Given the description of an element on the screen output the (x, y) to click on. 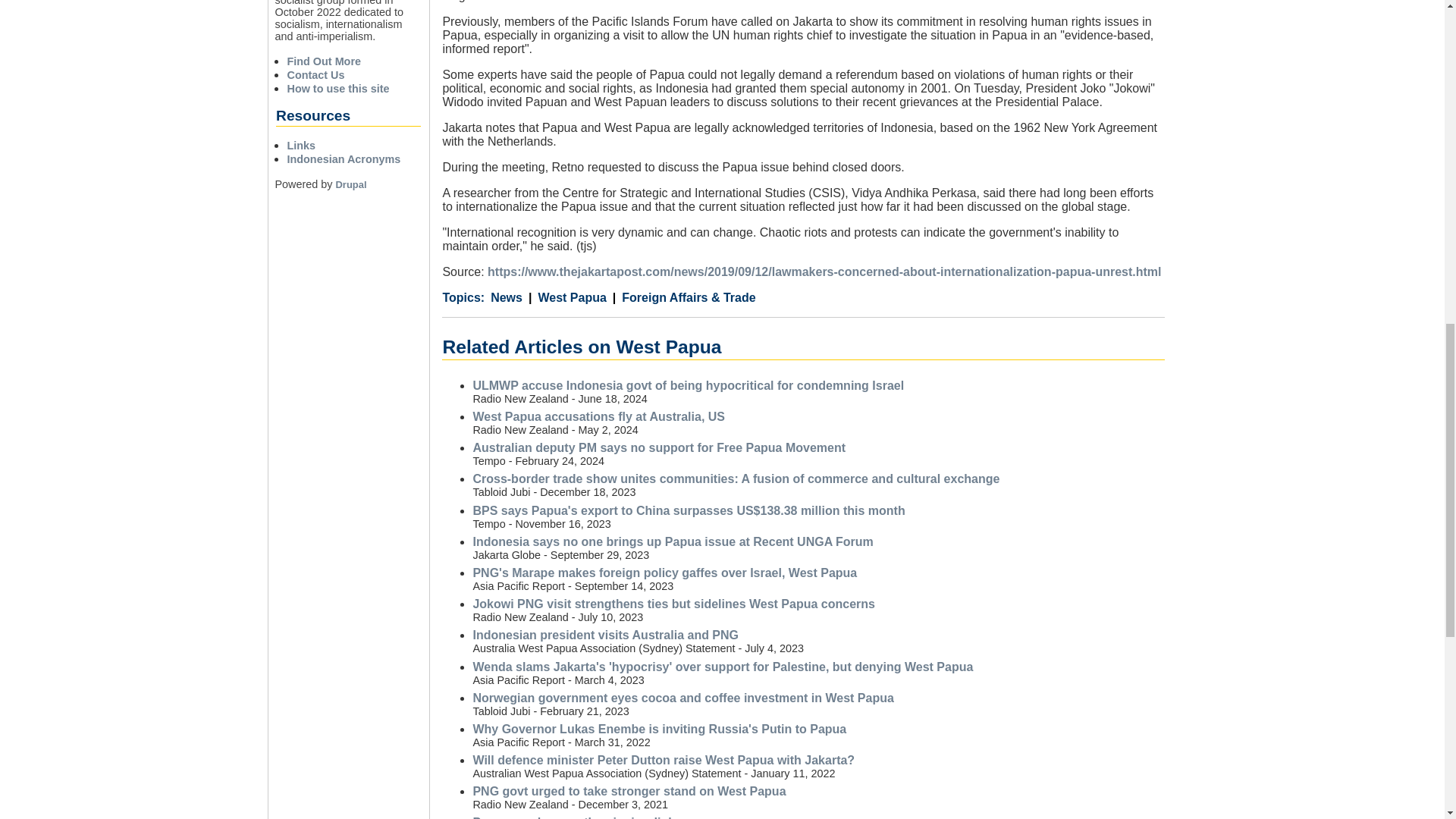
Papua needs more than junior diplomacy (590, 817)
West Papua accusations fly at Australia, US (598, 416)
PNG govt urged to take stronger stand on West Papua (628, 790)
Indonesian president visits Australia and PNG (604, 634)
West Papua (567, 297)
Australian deputy PM says no support for Free Papua Movement (658, 447)
